Given the description of an element on the screen output the (x, y) to click on. 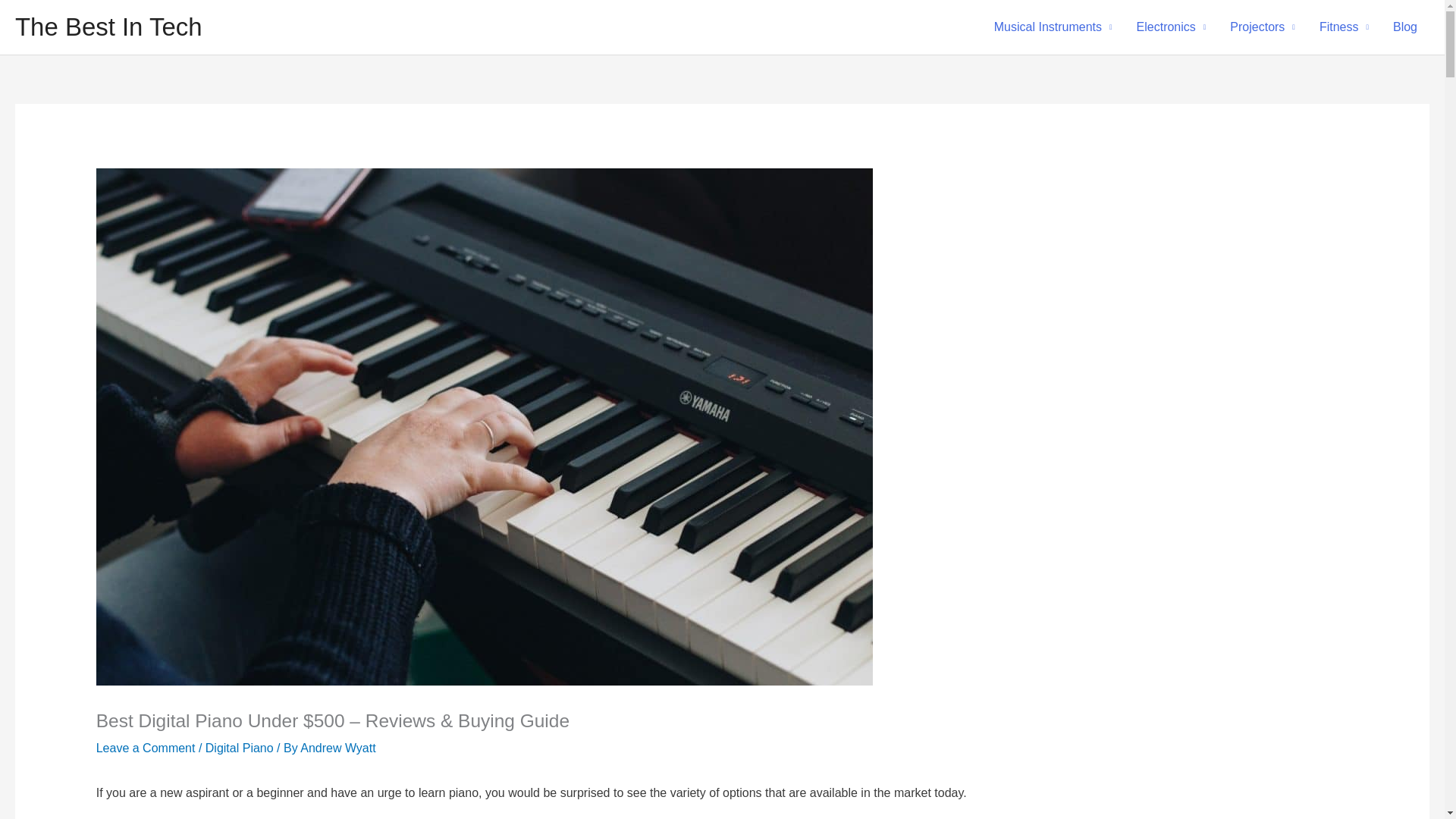
The Best In Tech (108, 26)
Electronics (1171, 27)
Musical Instruments (1052, 27)
Fitness (1343, 27)
Projectors (1262, 27)
Blog (1404, 27)
View all posts by Andrew Wyatt (337, 748)
